Given the description of an element on the screen output the (x, y) to click on. 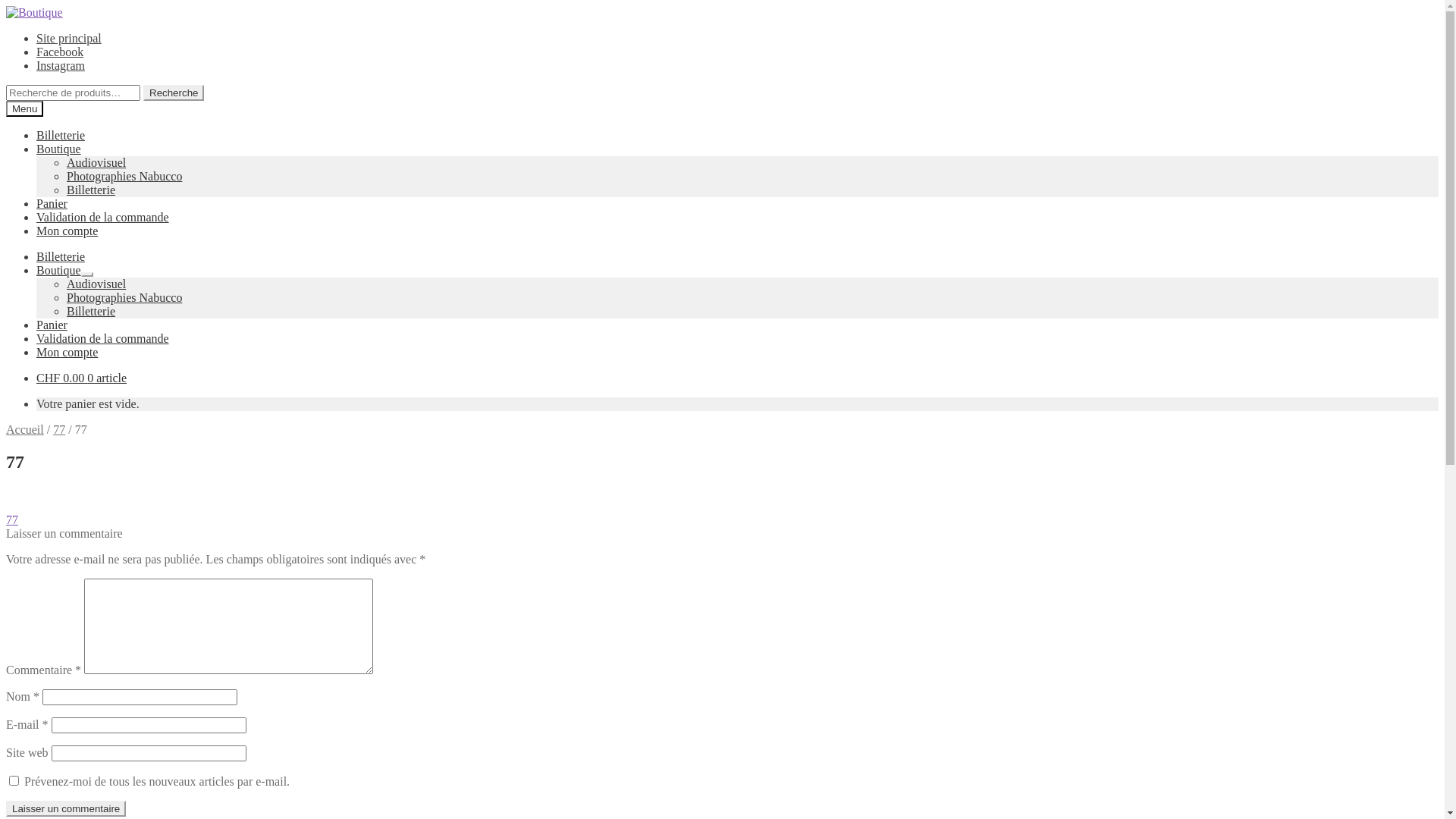
Mon compte Element type: text (66, 351)
Billetterie Element type: text (90, 310)
Accueil Element type: text (24, 429)
Laisser un commentaire Element type: text (65, 808)
Validation de la commande Element type: text (102, 338)
Ouvrir le menu enfant Element type: text (87, 274)
Menu Element type: text (24, 108)
Billetterie Element type: text (60, 256)
Mon compte Element type: text (66, 230)
Panier Element type: text (51, 324)
Boutique Element type: text (58, 148)
77 Element type: text (59, 429)
Billetterie Element type: text (60, 134)
CHF 0.00 0 article Element type: text (81, 377)
Validation de la commande Element type: text (102, 216)
Panier Element type: text (51, 203)
Audiovisuel Element type: text (95, 162)
Billetterie Element type: text (90, 189)
Boutique Element type: text (58, 269)
Photographies Nabucco Element type: text (124, 175)
Audiovisuel Element type: text (95, 283)
Instagram Element type: text (60, 65)
Site principal Element type: text (68, 37)
Recherche Element type: text (173, 92)
Photographies Nabucco Element type: text (124, 297)
Facebook Element type: text (59, 51)
